Given the description of an element on the screen output the (x, y) to click on. 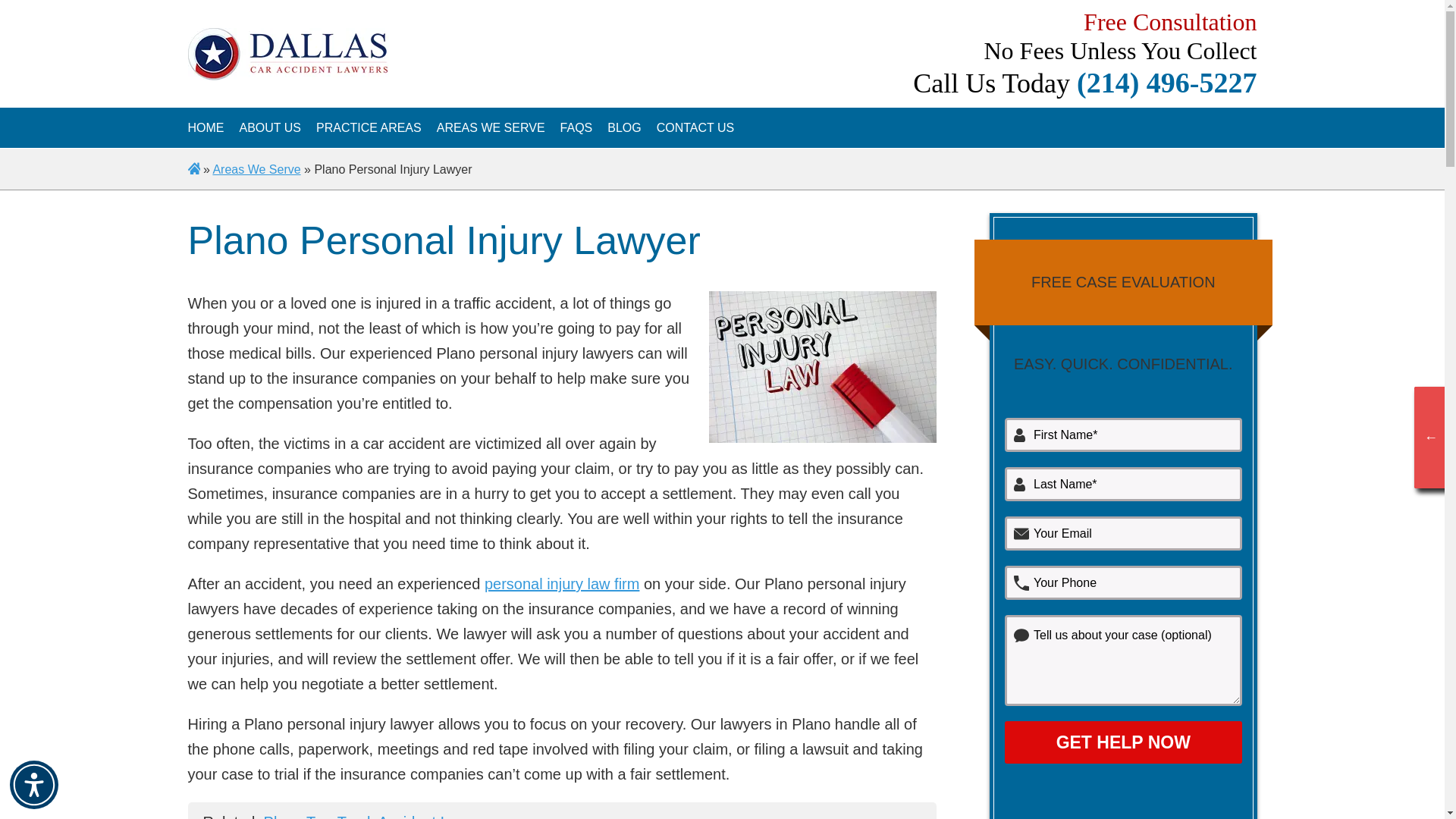
Dallas Car Accident Lawyers (205, 127)
HOME (205, 127)
Accessibility Menu (34, 784)
ABOUT US (270, 127)
Get Help Now (1122, 742)
PRACTICE AREAS (368, 127)
Dallas Car Accident Legal Representation  (270, 127)
